Given the description of an element on the screen output the (x, y) to click on. 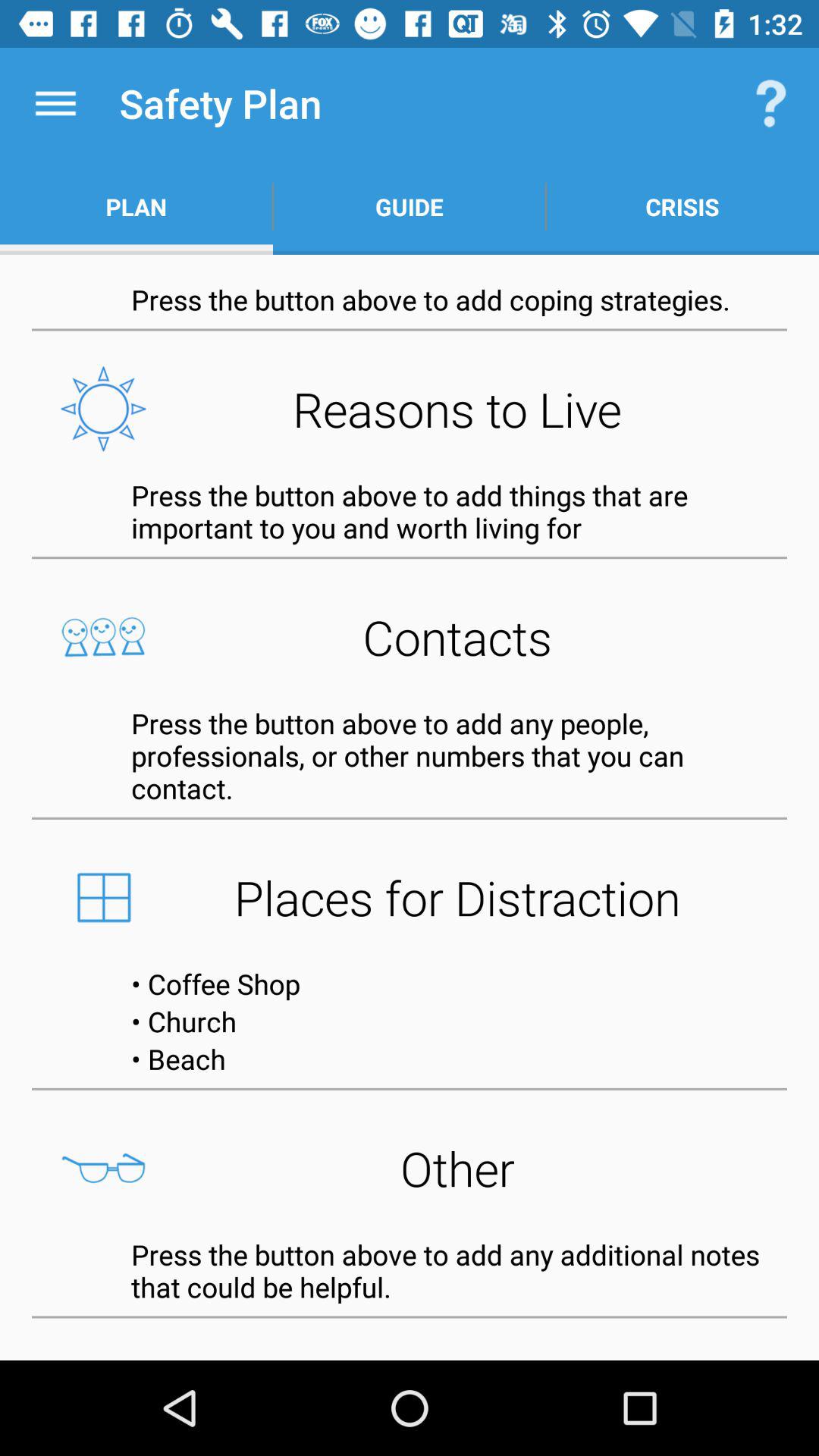
turn on the reasons to live item (409, 408)
